Given the description of an element on the screen output the (x, y) to click on. 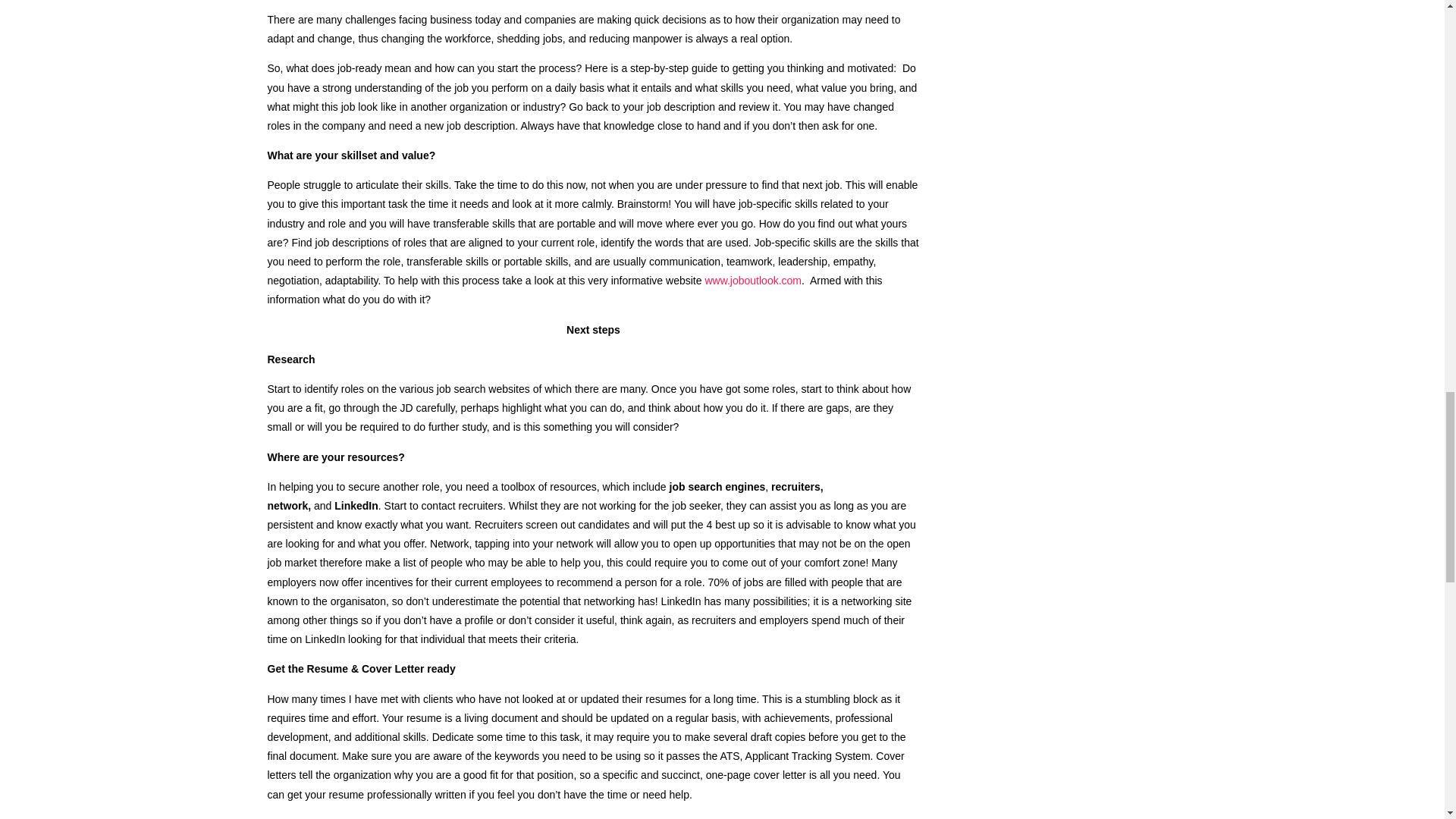
www.joboutlook.com (753, 280)
